Given the description of an element on the screen output the (x, y) to click on. 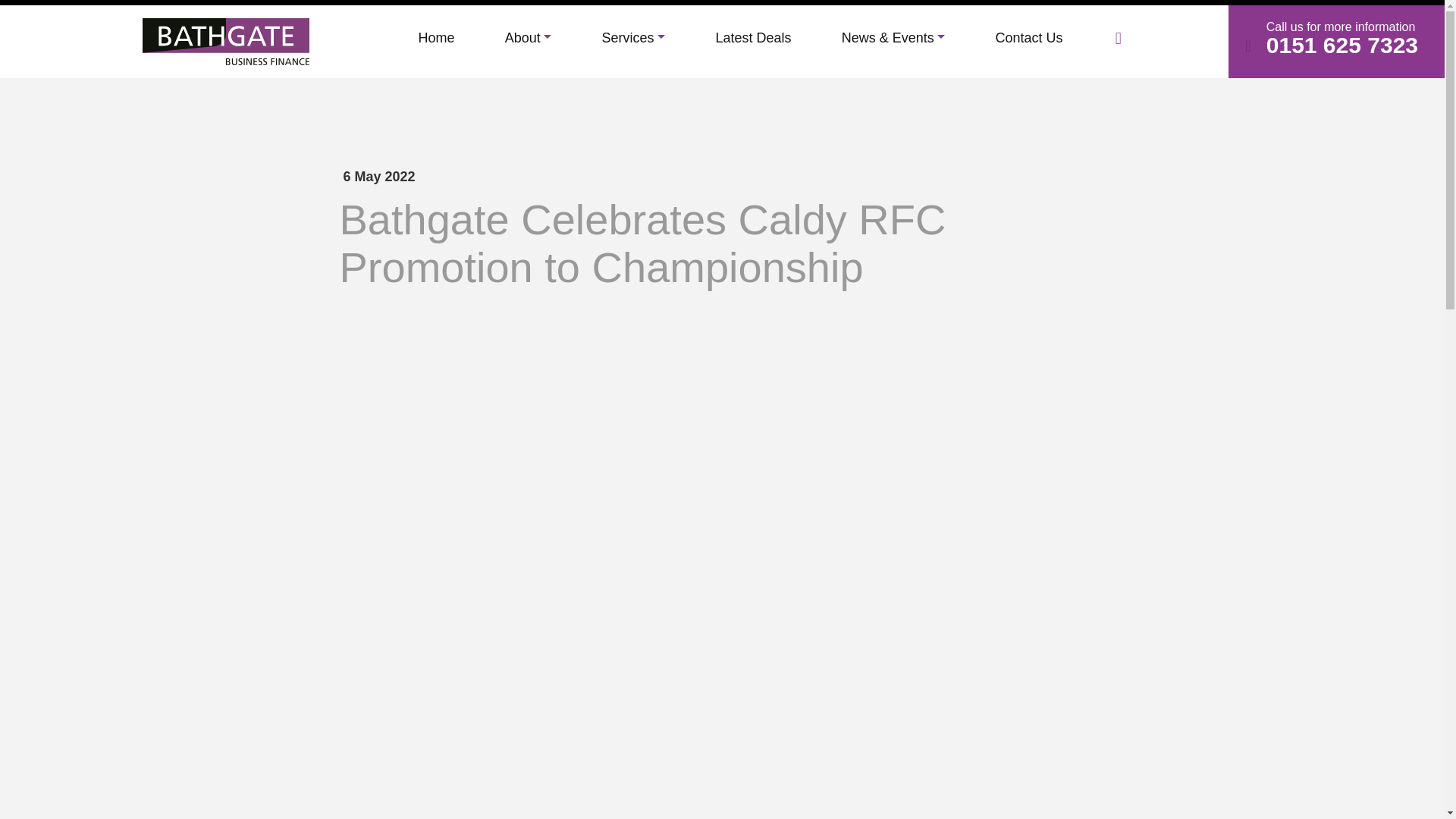
Services (633, 37)
About (528, 37)
0151 625 7323 (1342, 44)
Home (436, 37)
Services (633, 37)
Home (436, 37)
Contact Us (1029, 37)
Latest Deals (752, 37)
Contact Us (1029, 37)
About (528, 37)
